Given the description of an element on the screen output the (x, y) to click on. 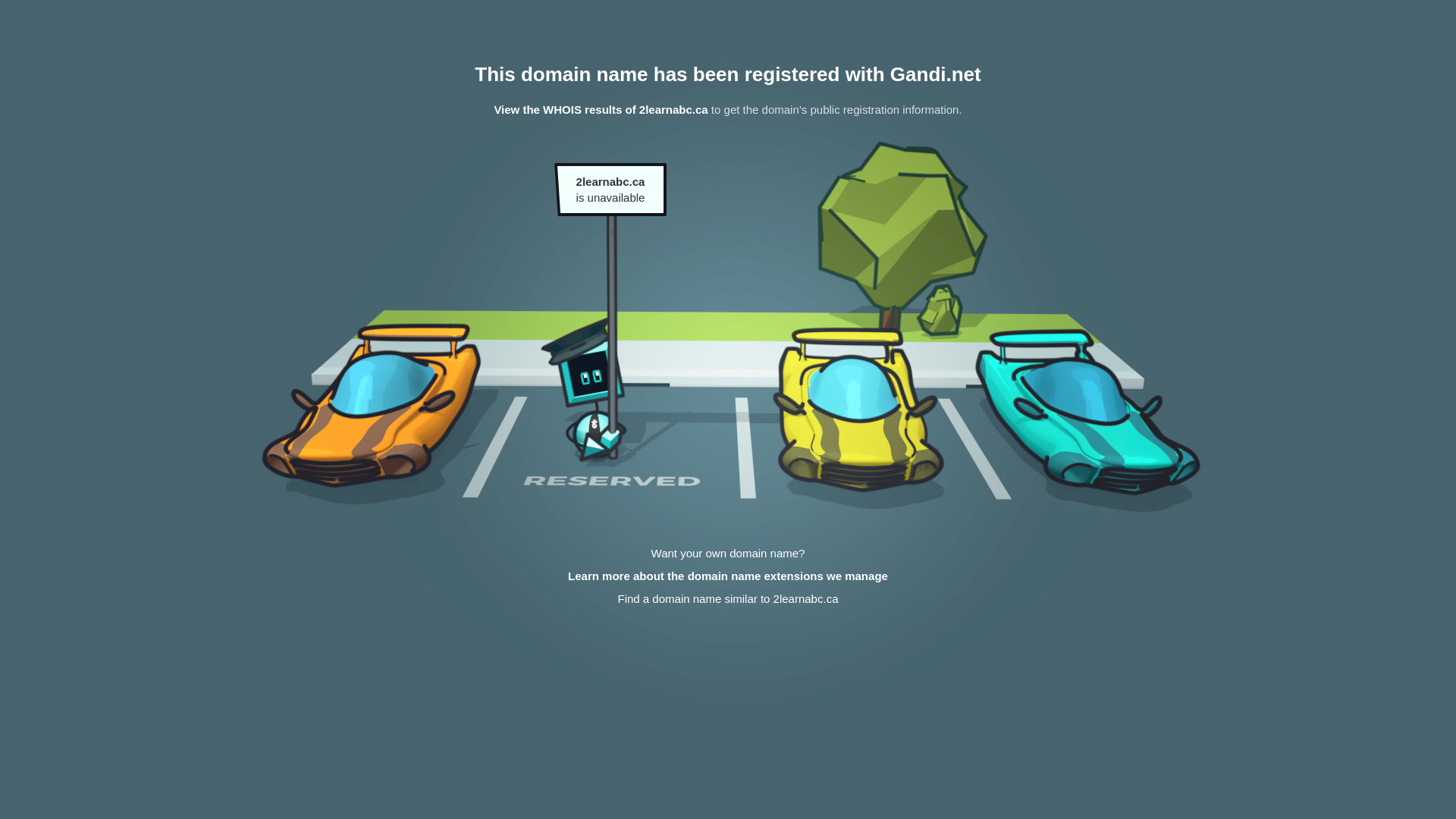
Learn more about the domain name extensions we manage Element type: text (727, 575)
View the WHOIS results of 2learnabc.ca Element type: text (600, 109)
Find a domain name similar to 2learnabc.ca Element type: text (727, 598)
